Given the description of an element on the screen output the (x, y) to click on. 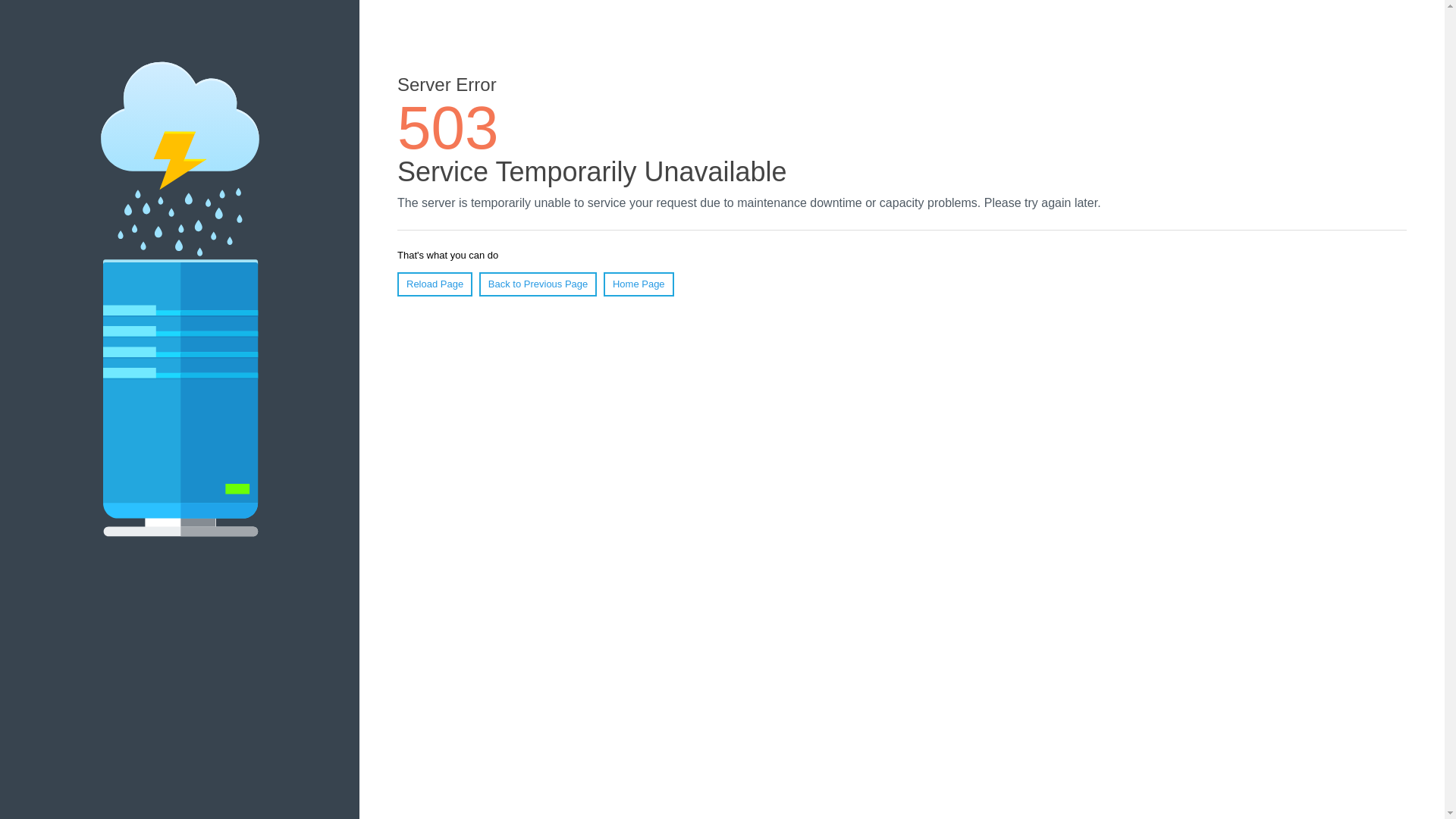
Reload Page Element type: text (434, 284)
Home Page Element type: text (638, 284)
Back to Previous Page Element type: text (538, 284)
